Given the description of an element on the screen output the (x, y) to click on. 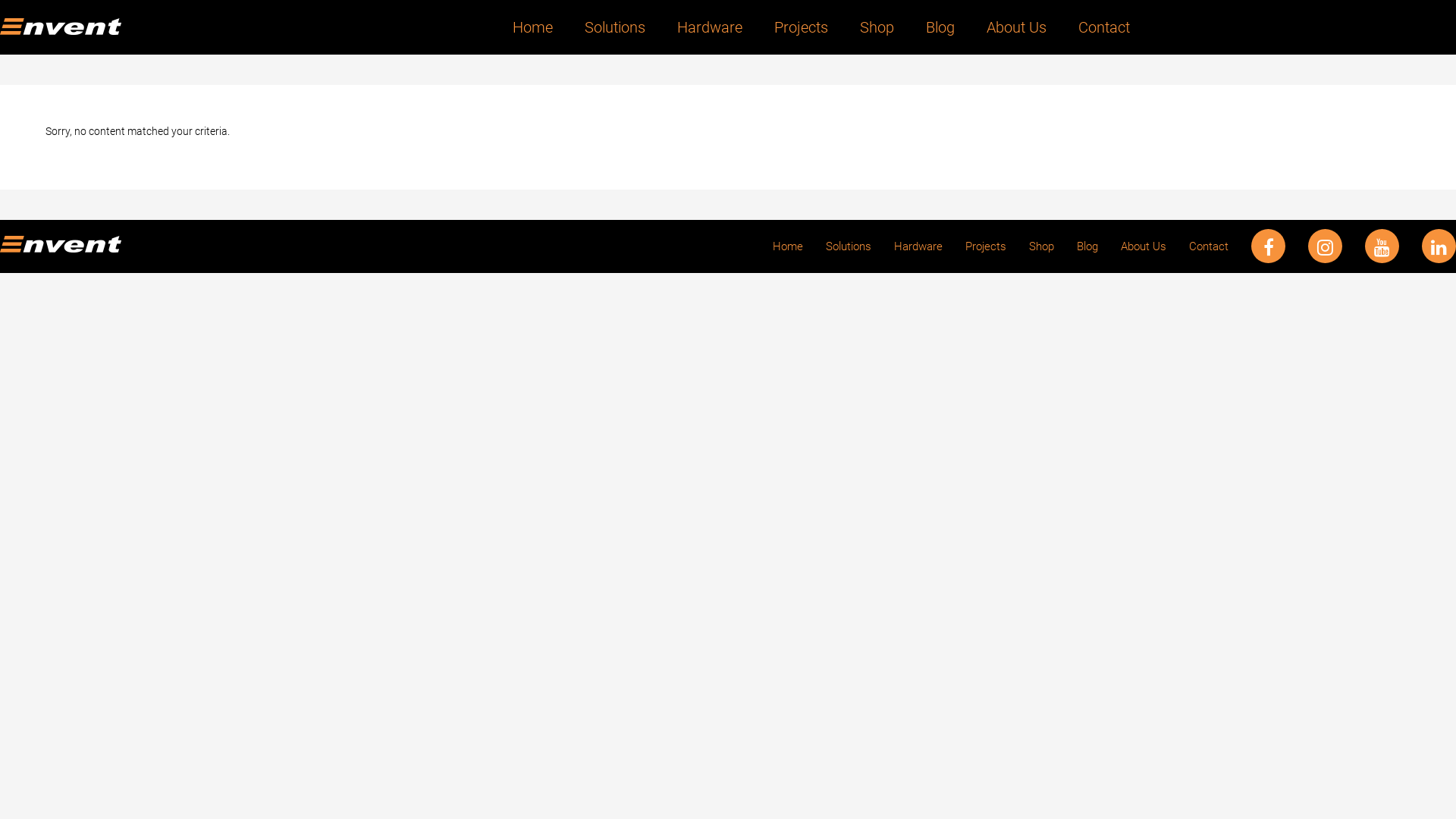
Projects Element type: text (985, 246)
Hardware Element type: text (709, 27)
Contact Element type: text (1096, 27)
Home Element type: text (532, 27)
Home Element type: text (787, 246)
Projects Element type: text (801, 27)
Contact Element type: text (1202, 246)
Shop Element type: text (1041, 246)
Shop Element type: text (877, 27)
About Us Element type: text (1016, 27)
Blog Element type: text (940, 27)
Solutions Element type: text (848, 246)
Solutions Element type: text (614, 26)
Hardware Element type: text (917, 246)
About Us Element type: text (1143, 246)
Blog Element type: text (1087, 246)
